Given the description of an element on the screen output the (x, y) to click on. 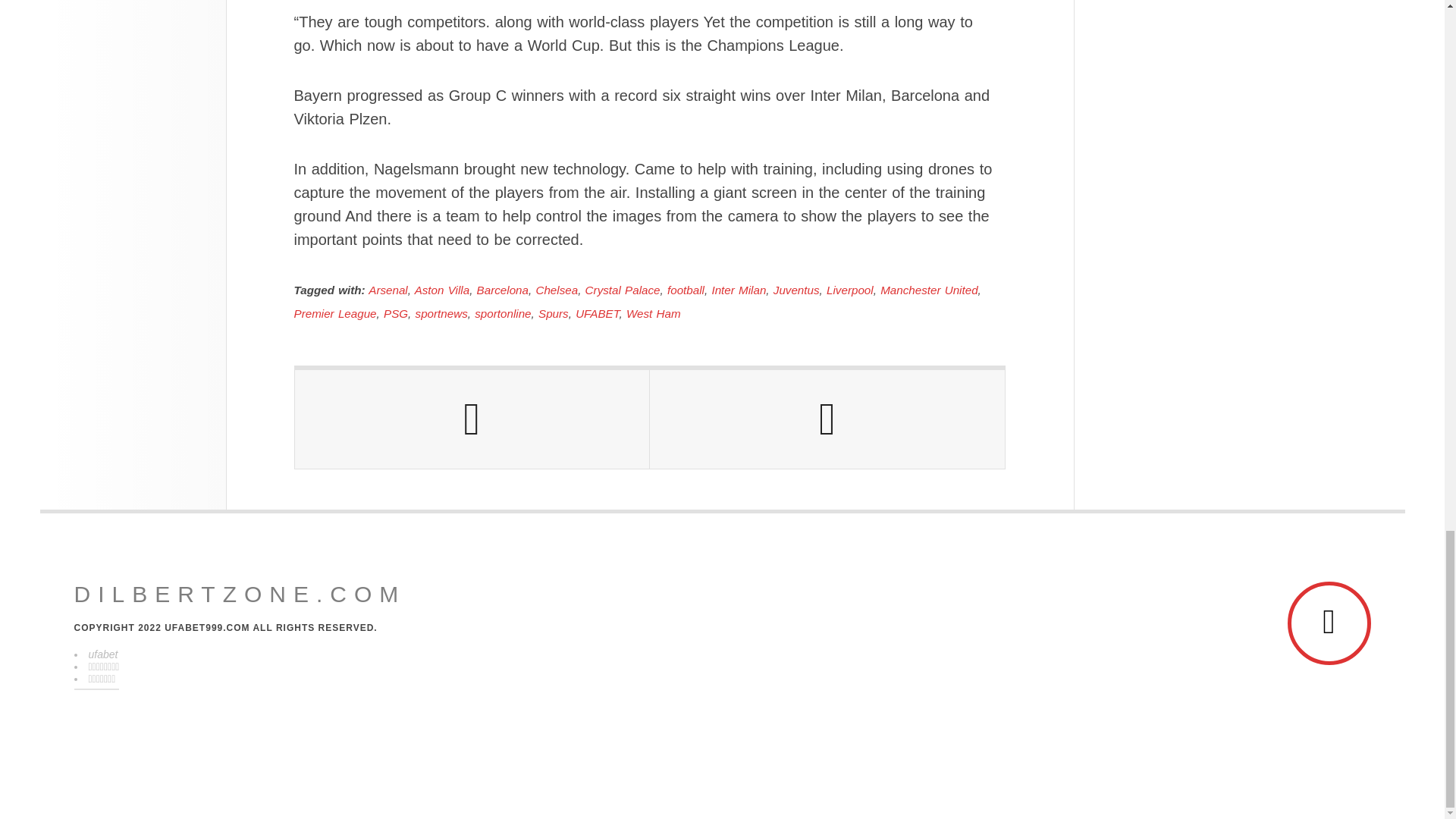
dilbertzone.com (240, 594)
Liverpool (850, 289)
Chelsea (556, 289)
Juventus (796, 289)
Manchester United (928, 289)
Inter Milan (738, 289)
Spurs (553, 313)
PSG (395, 313)
Arsenal (387, 289)
Barcelona (502, 289)
Previous Post (471, 419)
UFABET (596, 313)
Crystal Palace (623, 289)
football (685, 289)
Premier League (335, 313)
